Given the description of an element on the screen output the (x, y) to click on. 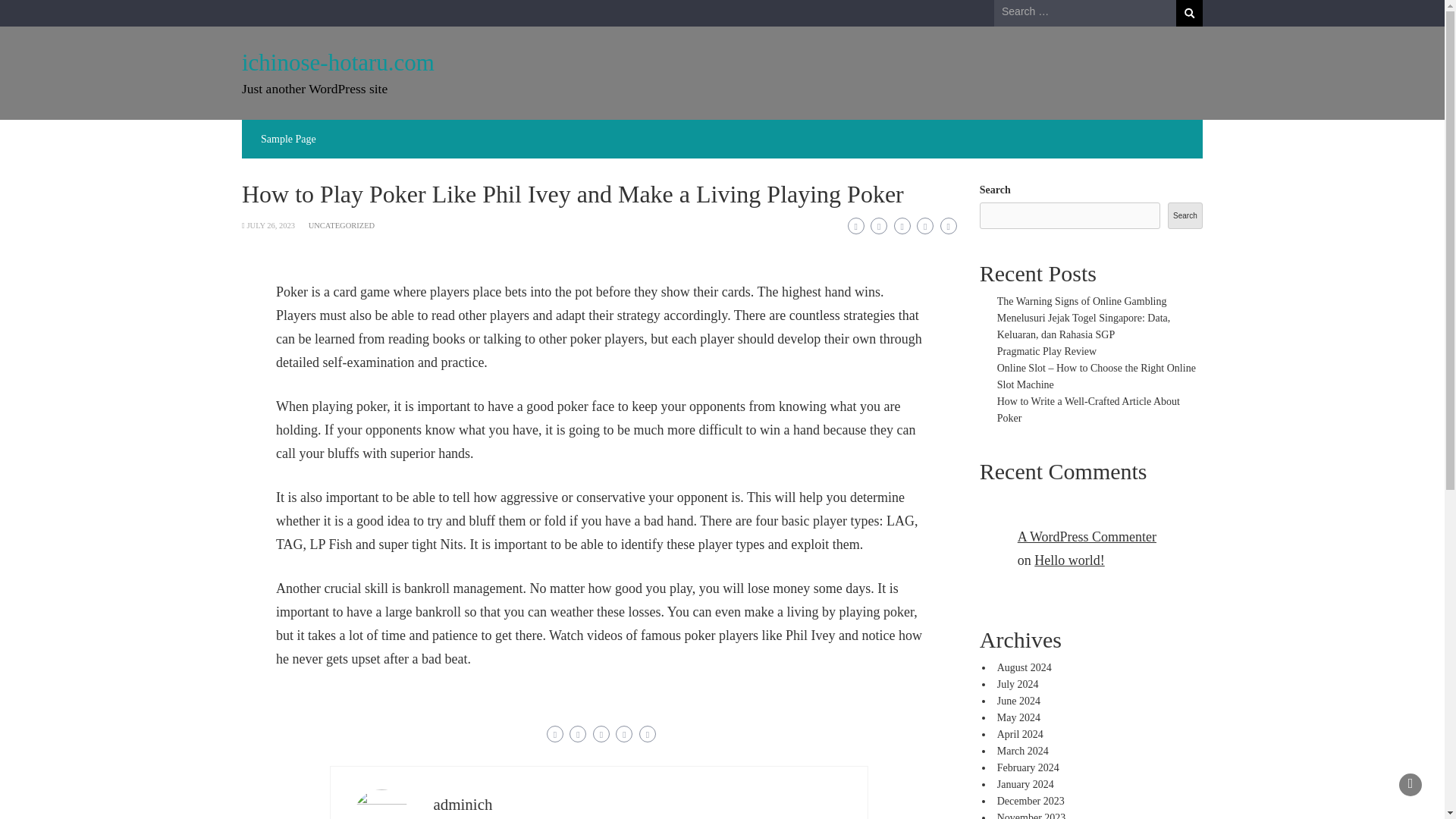
November 2023 (1031, 815)
How to Write a Well-Crafted Article About Poker (1088, 409)
JULY 26, 2023 (270, 225)
December 2023 (1030, 800)
A WordPress Commenter (1086, 536)
Search (1189, 13)
May 2024 (1019, 717)
February 2024 (1028, 767)
March 2024 (1022, 750)
Search (1189, 13)
The Warning Signs of Online Gambling (1082, 301)
July 2024 (1018, 684)
Sample Page (288, 138)
UNCATEGORIZED (341, 225)
Search (1189, 13)
